Given the description of an element on the screen output the (x, y) to click on. 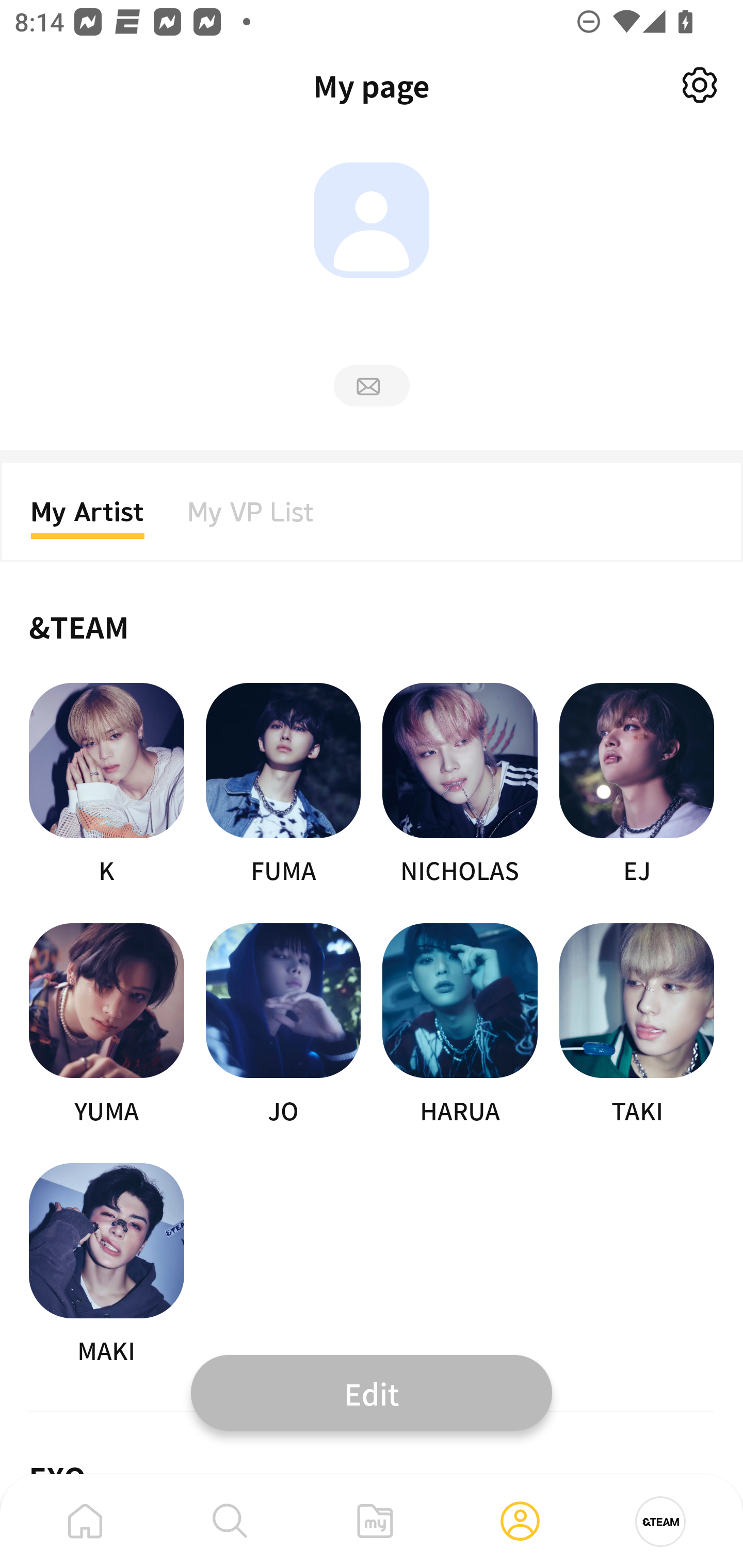
My Artist (87, 517)
My VP List (250, 517)
K (106, 785)
FUMA (282, 785)
NICHOLAS (459, 785)
EJ (636, 785)
YUMA (106, 1025)
JO (282, 1025)
HARUA (459, 1025)
TAKI (636, 1025)
MAKI (106, 1265)
Edit (371, 1392)
